Given the description of an element on the screen output the (x, y) to click on. 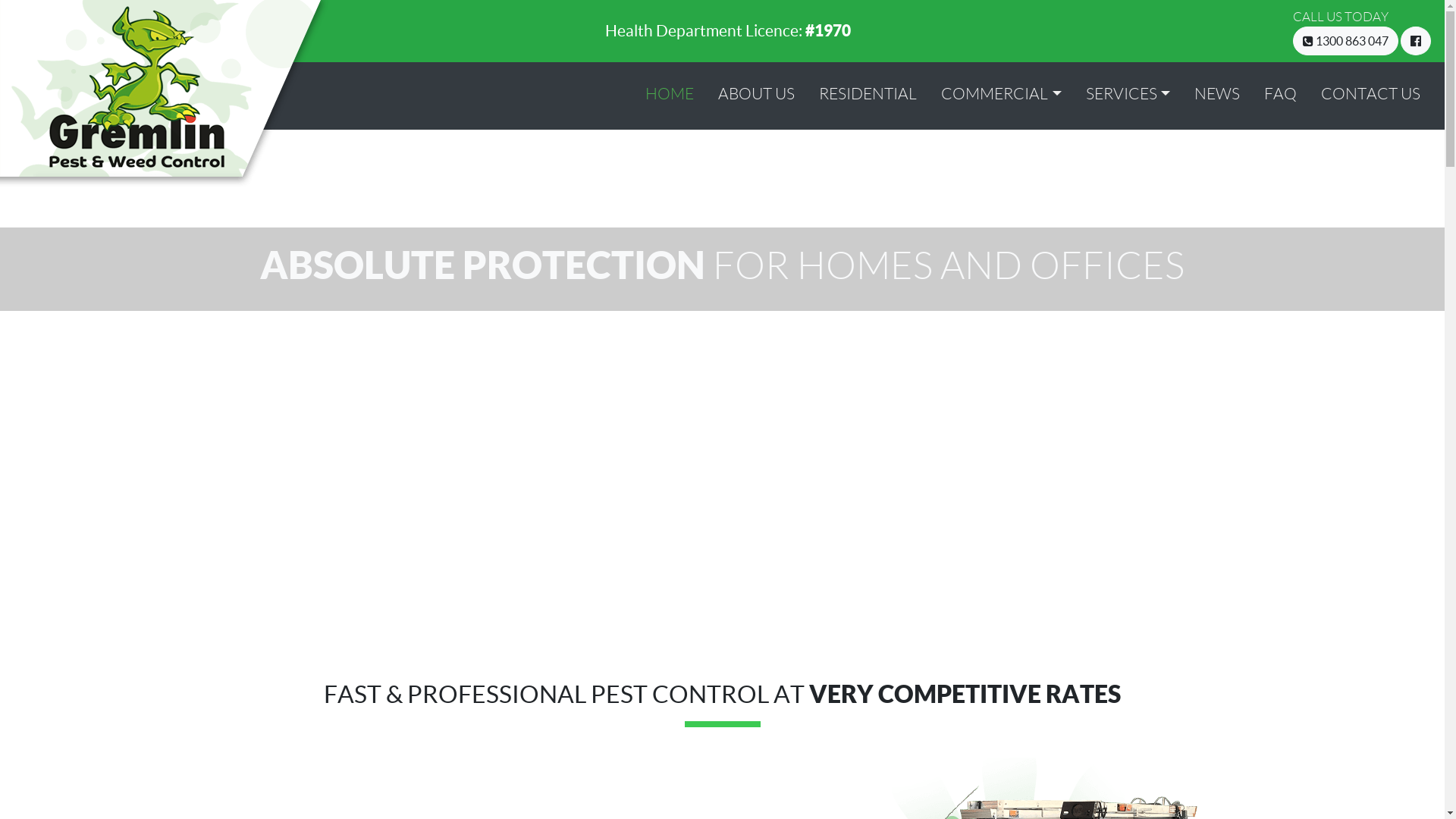
RESIDENTIAL Element type: text (867, 93)
COMMERCIAL Element type: text (1000, 93)
HOME
(CURRENT) Element type: text (669, 93)
CONTACT US Element type: text (1370, 93)
NEWS Element type: text (1217, 93)
ABOUT US
(CURRENT) Element type: text (756, 93)
1300 863 047 Element type: text (1345, 40)
SERVICES Element type: text (1127, 93)
FAQ Element type: text (1280, 93)
